Given the description of an element on the screen output the (x, y) to click on. 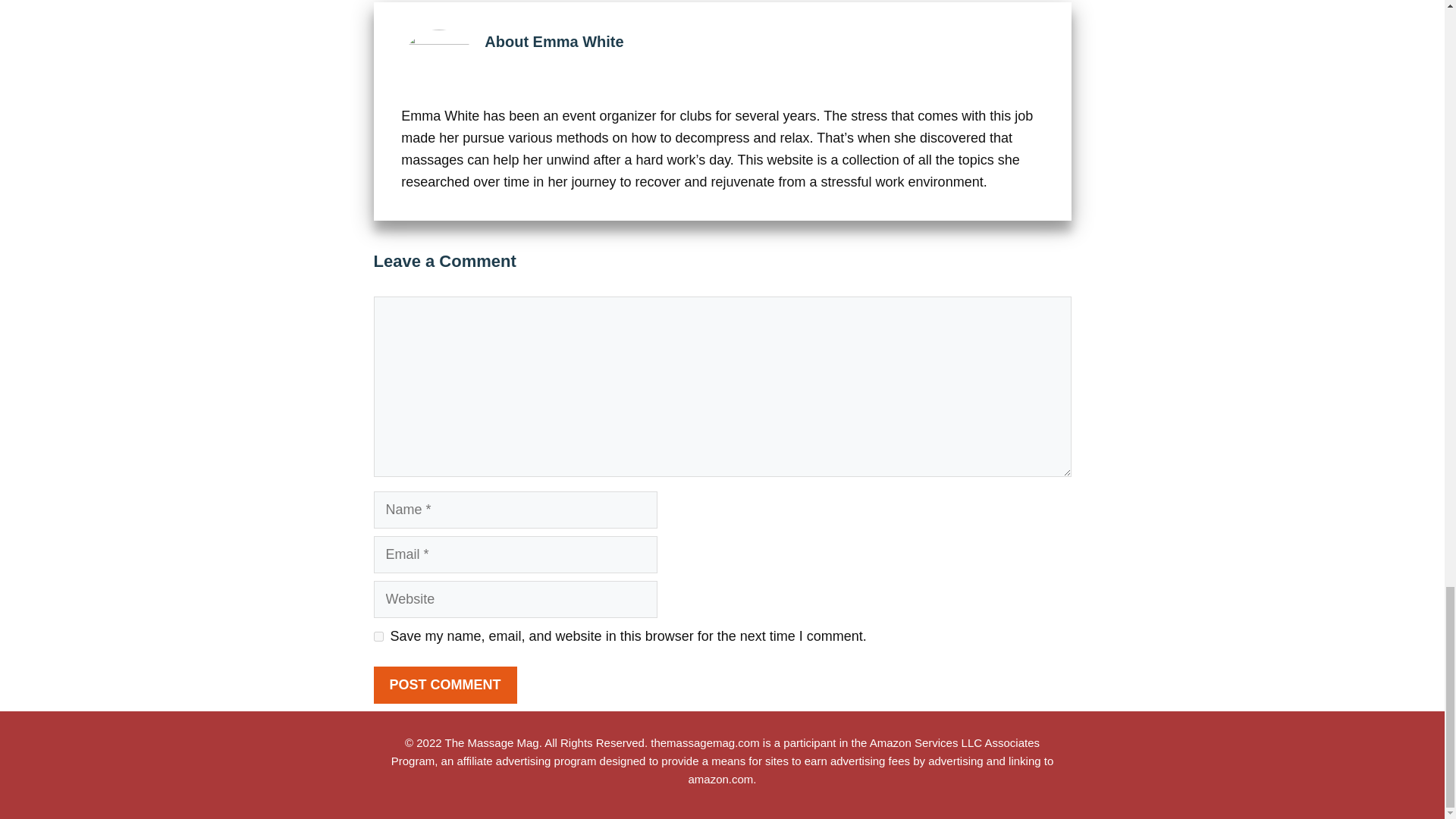
Post Comment (444, 684)
yes (377, 636)
Post Comment (444, 684)
